Given the description of an element on the screen output the (x, y) to click on. 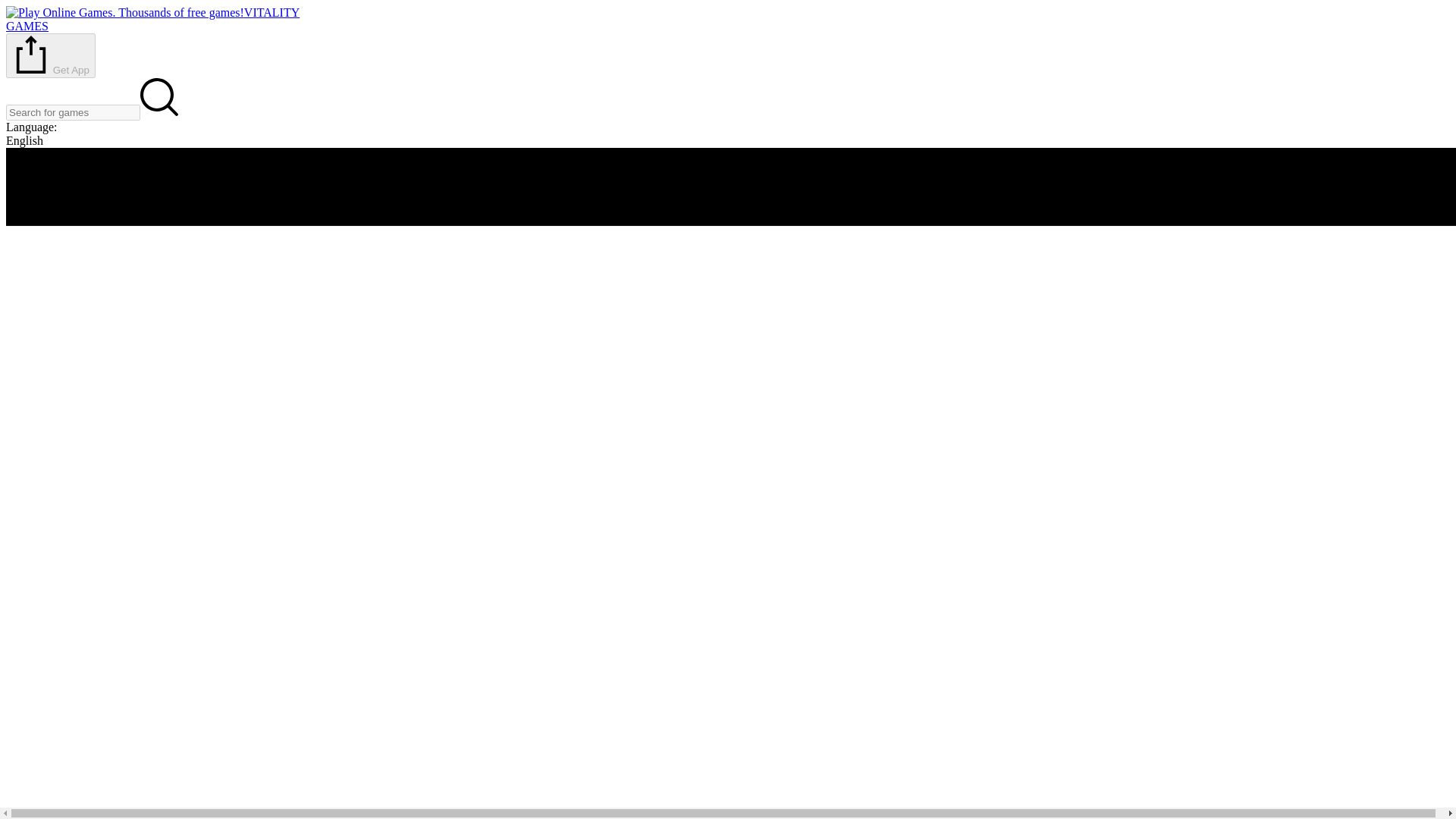
Get App (50, 55)
Play Online Games. Thousands of free games! (152, 18)
